Given the description of an element on the screen output the (x, y) to click on. 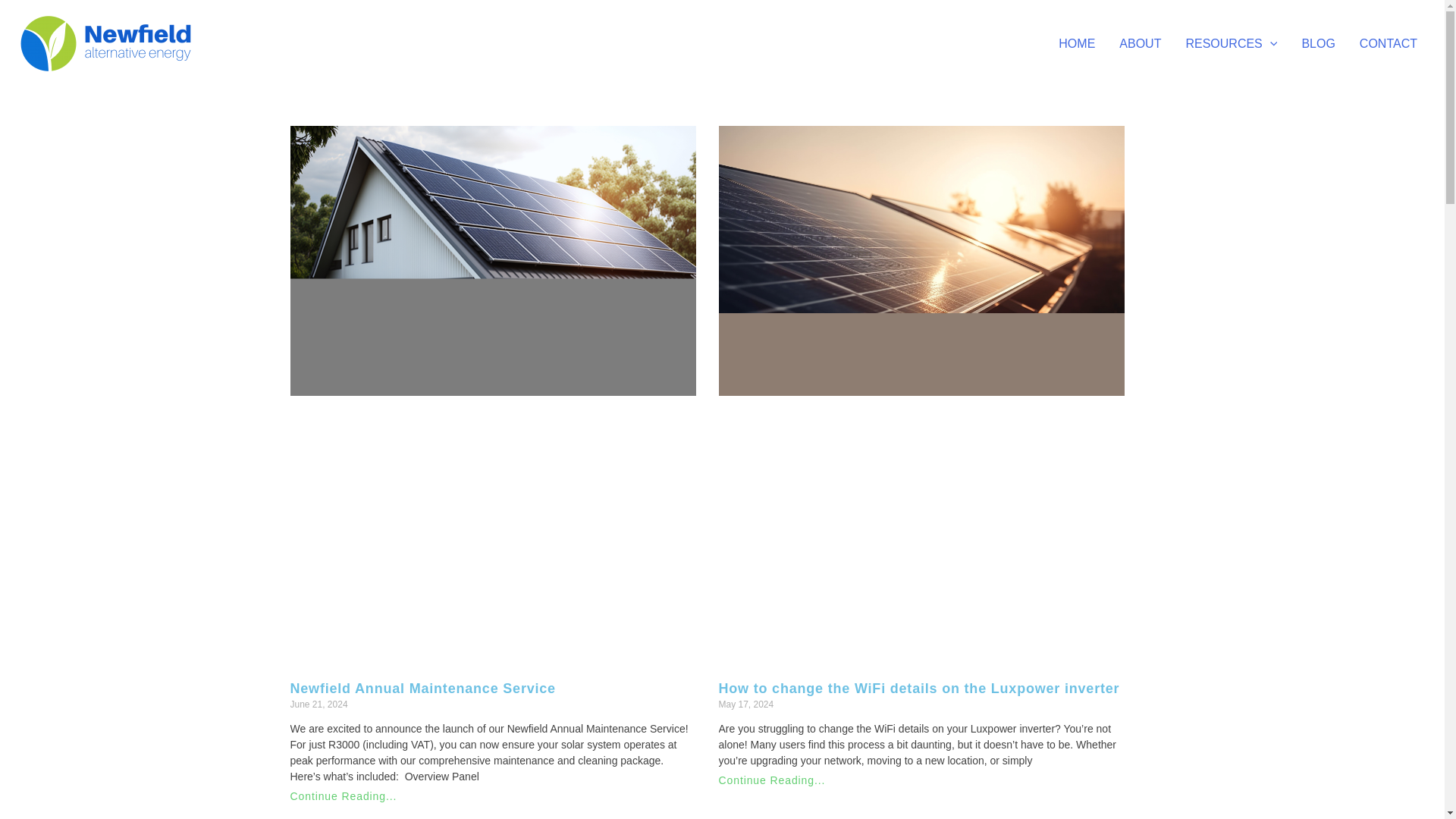
How to change the WiFi details on the Luxpower inverter (919, 688)
CONTACT (1388, 43)
HOME (1076, 43)
Newfield Annual Maintenance Service  (424, 688)
Continue Reading... (342, 796)
BLOG (1317, 43)
ABOUT (1139, 43)
Continue Reading... (772, 779)
RESOURCES (1230, 43)
